Given the description of an element on the screen output the (x, y) to click on. 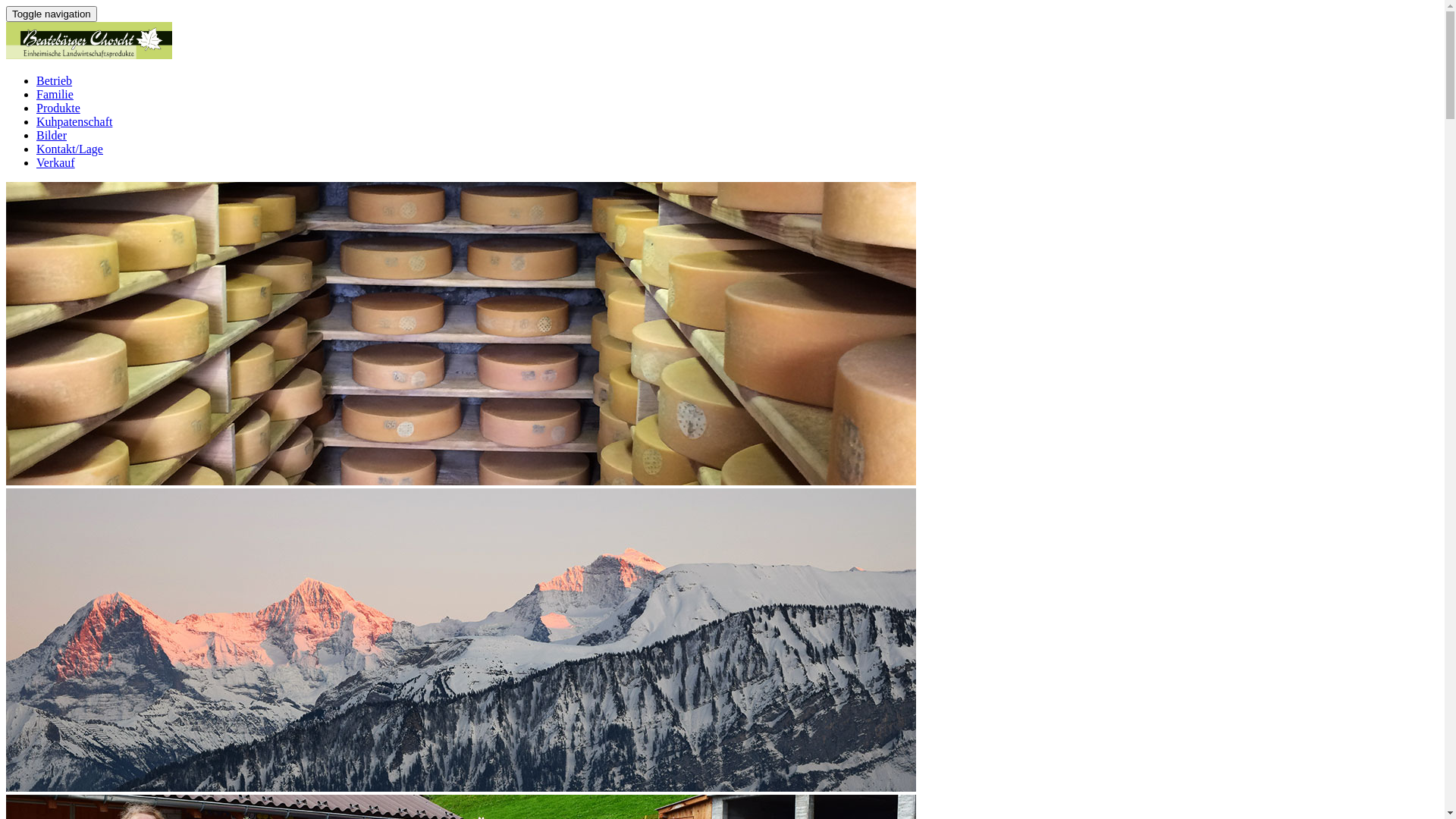
Familie Element type: text (54, 93)
Betrieb Element type: text (54, 80)
Bilder Element type: text (51, 134)
Verkauf Element type: text (55, 162)
Toggle navigation Element type: text (51, 13)
Produkte Element type: text (58, 107)
Kuhpatenschaft Element type: text (74, 121)
Kontakt/Lage Element type: text (69, 148)
